Given the description of an element on the screen output the (x, y) to click on. 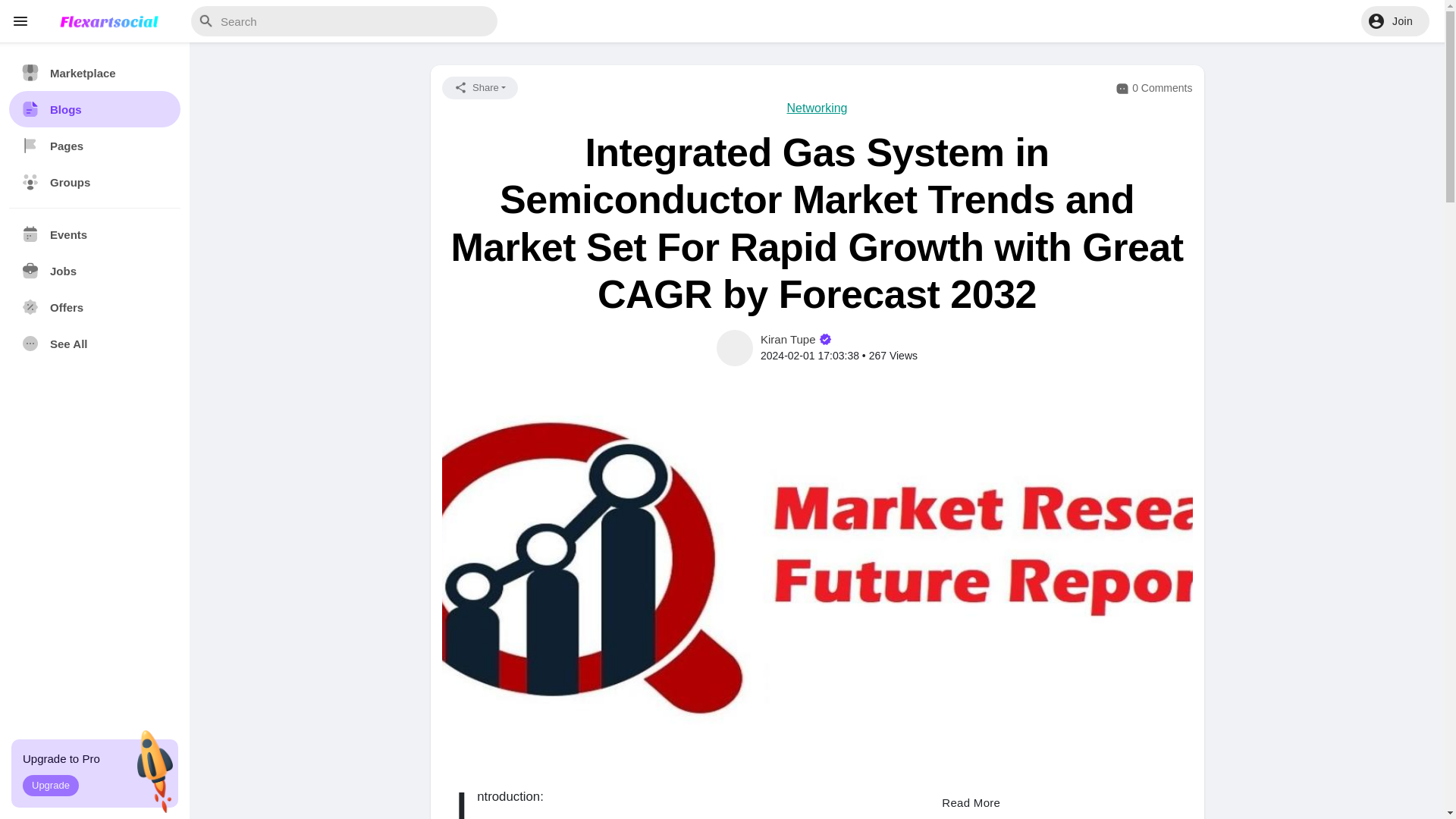
Groups (94, 181)
Blogs (94, 108)
Jobs (94, 270)
Join (1395, 20)
Verified User (824, 338)
Events (94, 234)
Marketplace (94, 72)
Pages (94, 145)
Offers (94, 307)
See All (94, 343)
